Given the description of an element on the screen output the (x, y) to click on. 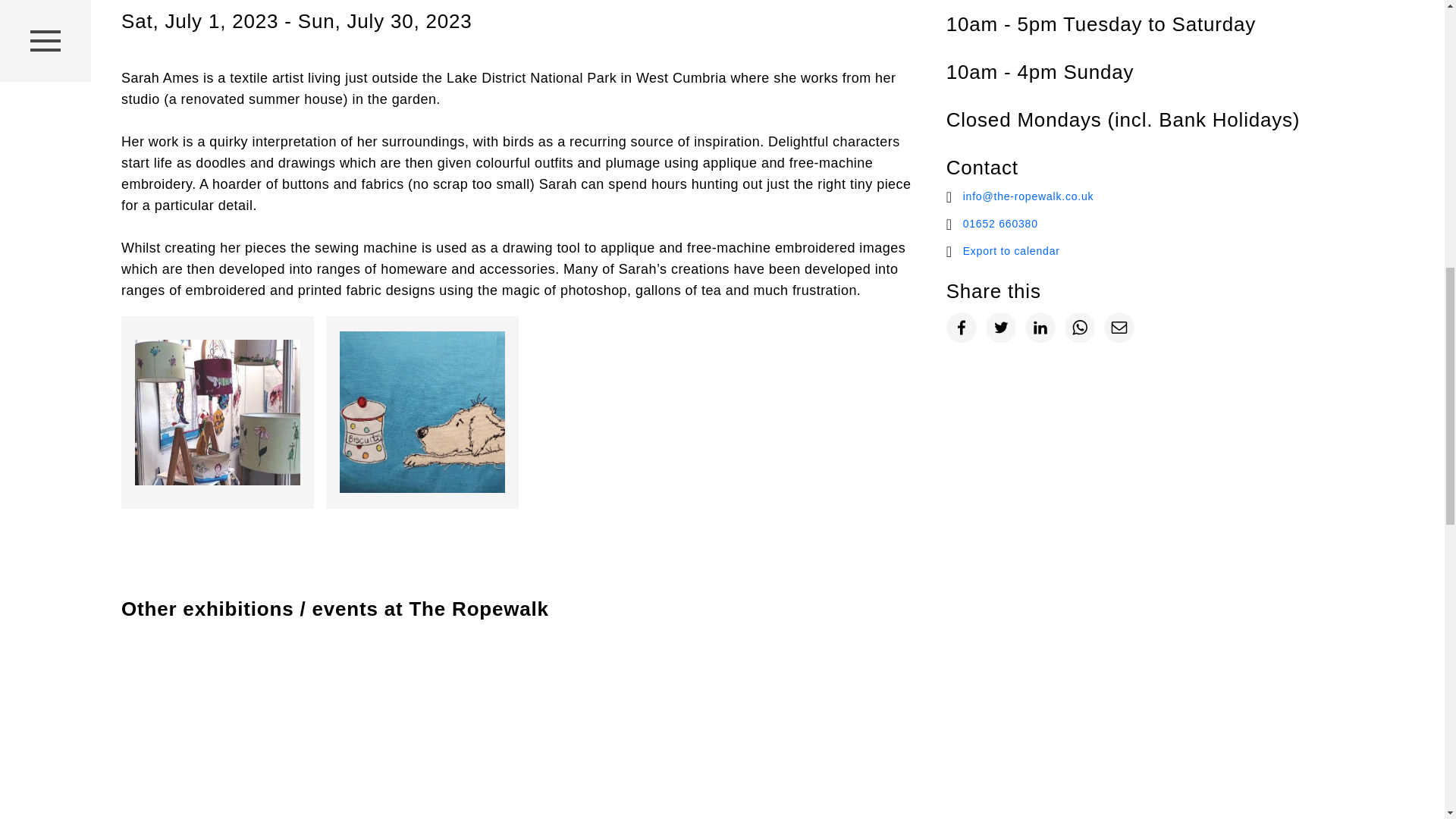
Share on Twitter (1000, 327)
01652 660380 (1142, 223)
Export to calendar (1142, 250)
Share on LinkedIn (1040, 327)
Share on Facebook (961, 327)
